Given the description of an element on the screen output the (x, y) to click on. 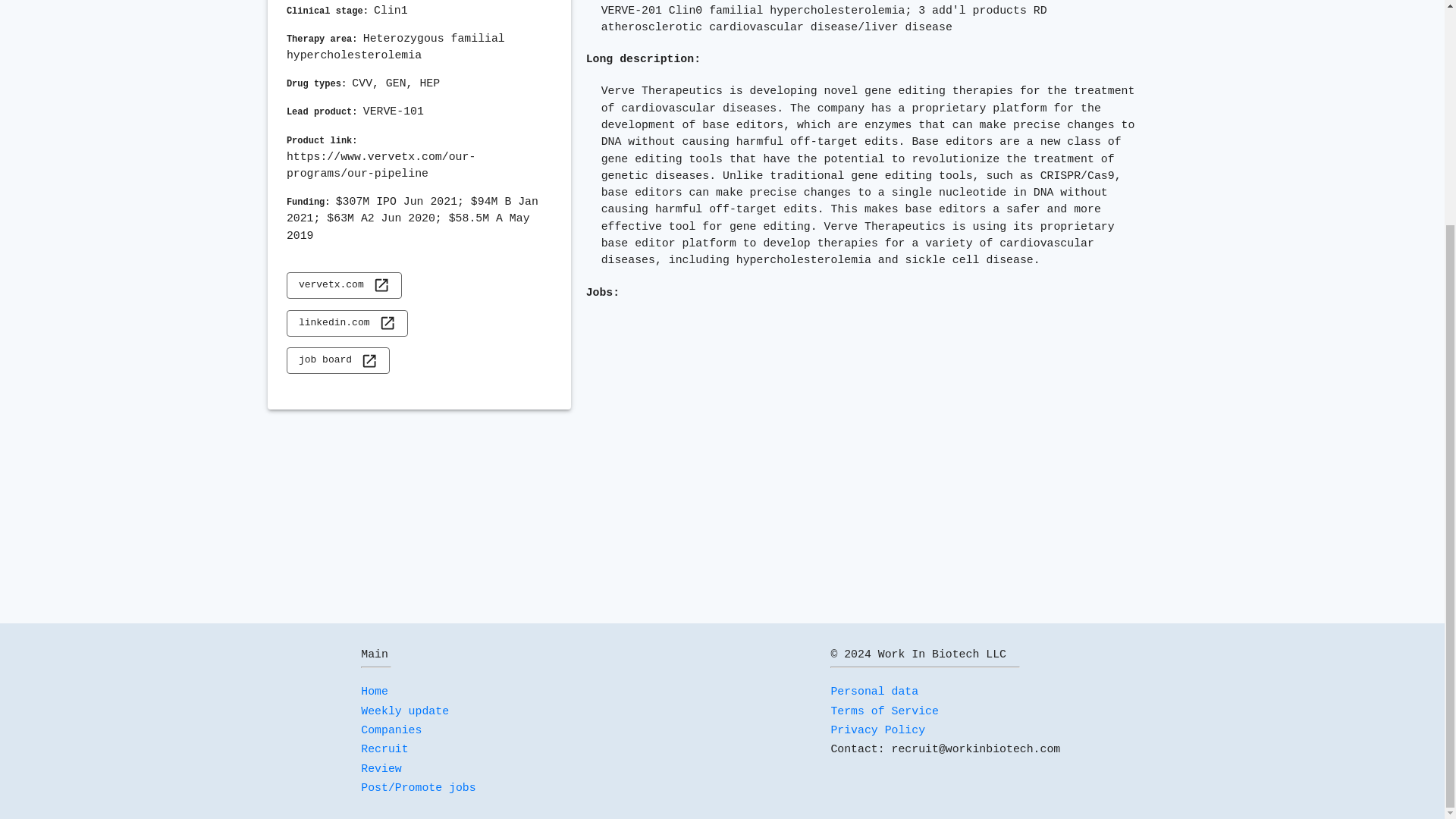
Recruit (384, 748)
Weekly update (404, 711)
Terms of Service (884, 711)
Personal data (873, 691)
vervetx.com (343, 284)
job board (338, 360)
Privacy Policy (876, 729)
Home (374, 691)
Review (381, 768)
linkedin.com (346, 323)
